Given the description of an element on the screen output the (x, y) to click on. 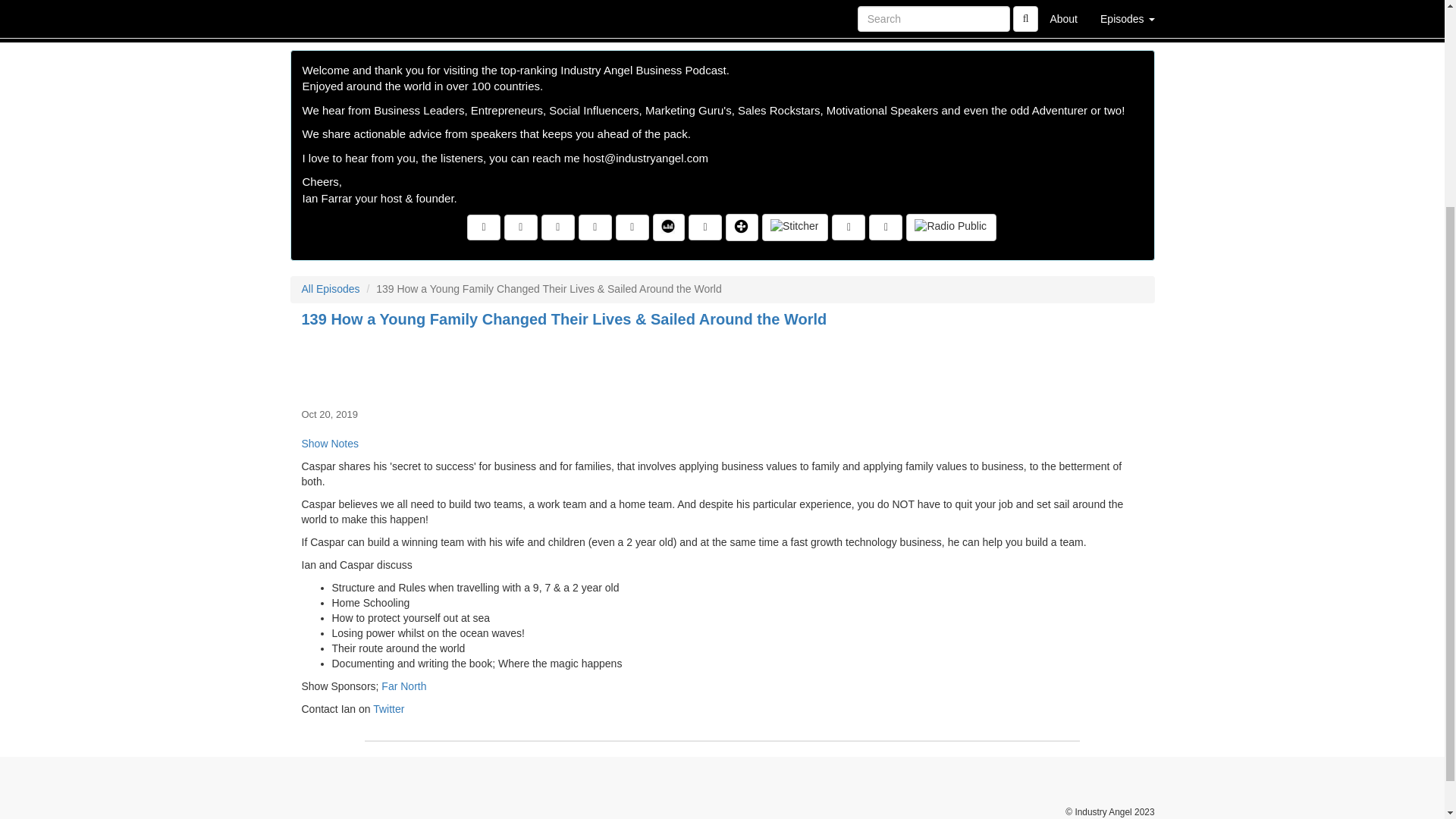
Listen on Apple Podcasts (705, 227)
Visit Us on Twitter (520, 227)
Listen on Radio Public (950, 226)
Go To YouTube Channel (885, 227)
Listen on TuneIn (741, 226)
Email This Podcast (594, 227)
Visit Us on Facebook (483, 227)
Listen on Stitcher (794, 226)
Listen on Deezer (668, 226)
Listen on Spotify (847, 227)
